Given the description of an element on the screen output the (x, y) to click on. 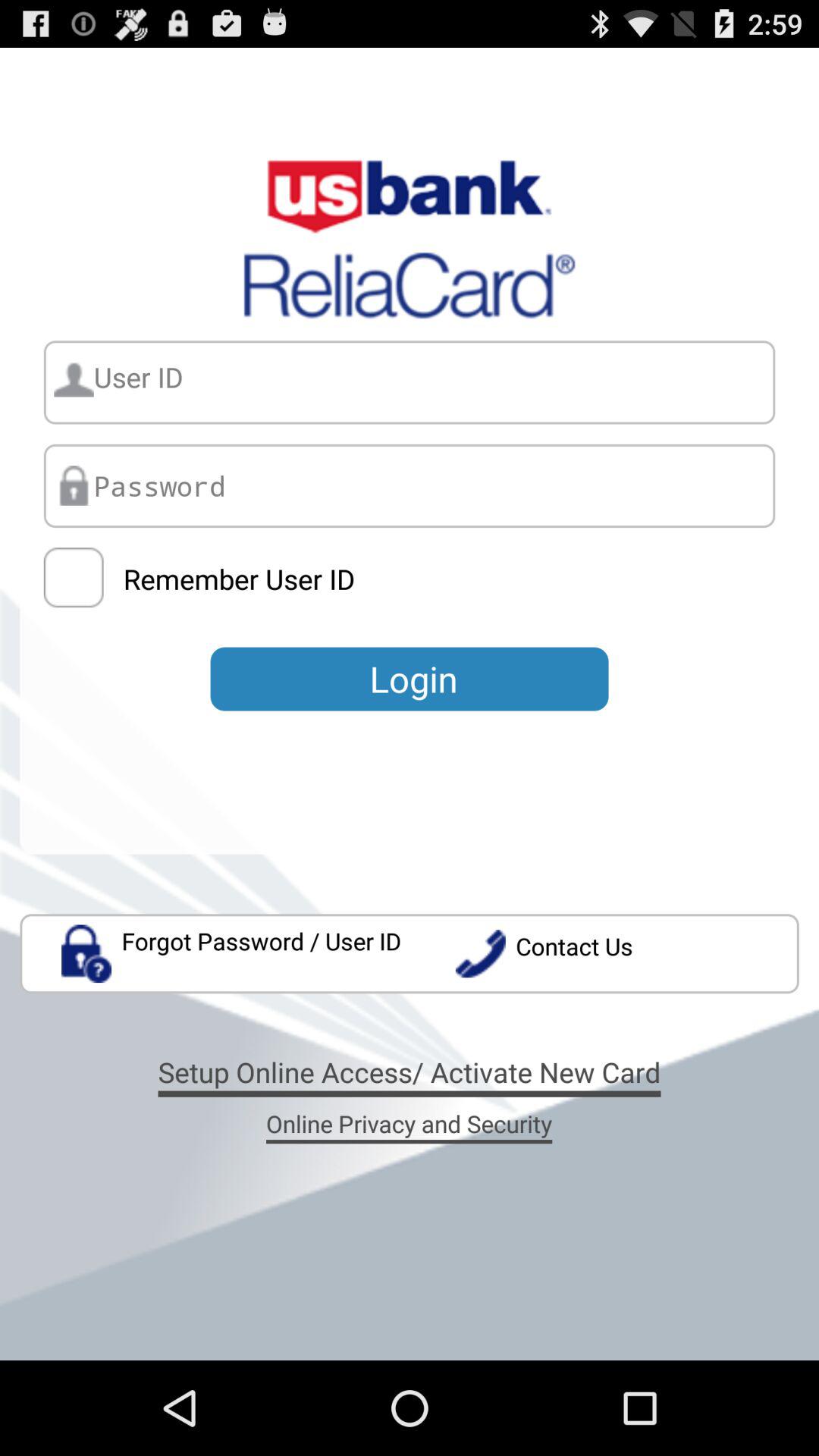
click the app next to the forgot password user app (626, 953)
